Given the description of an element on the screen output the (x, y) to click on. 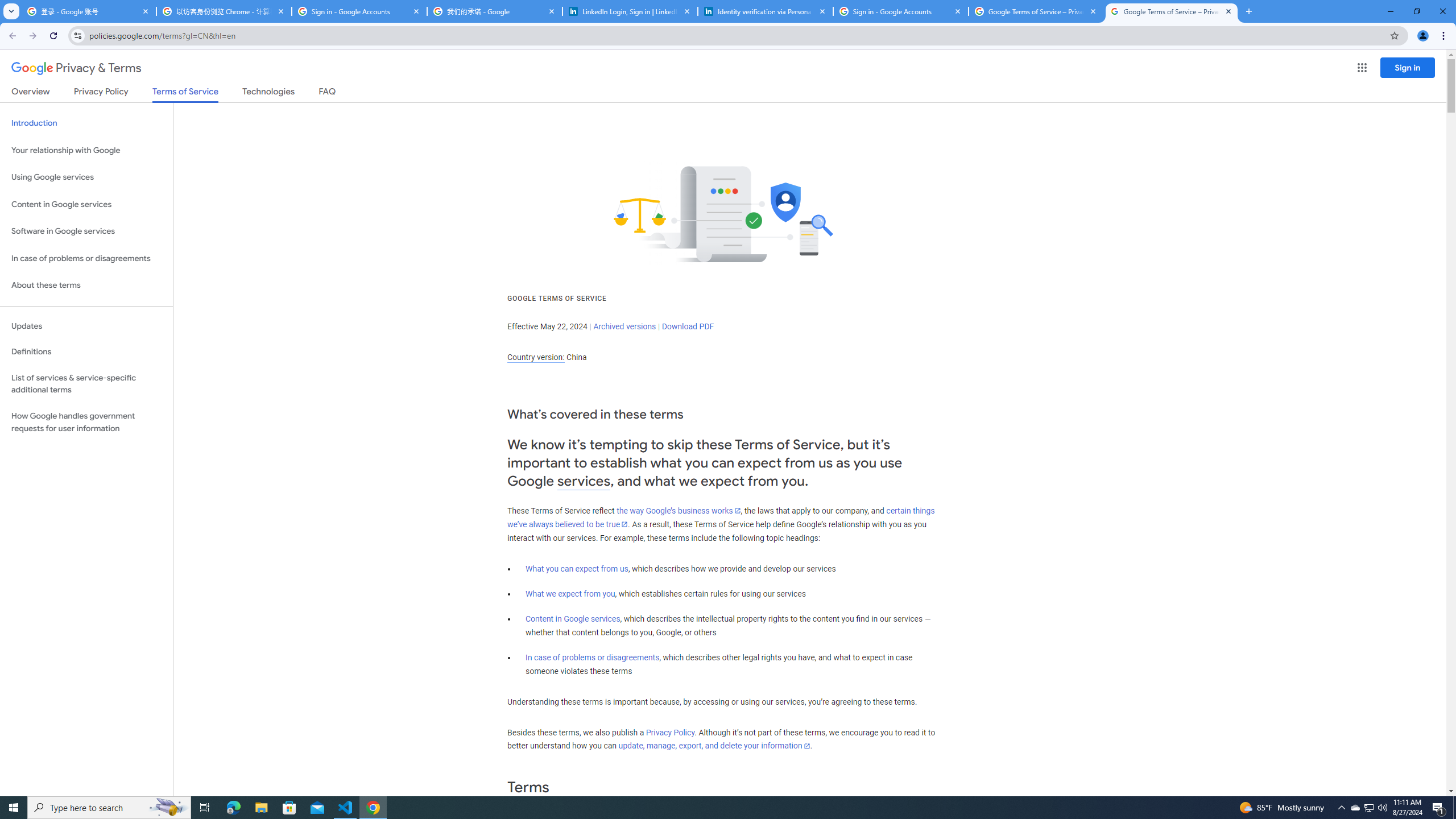
About these terms (86, 284)
Sign in - Google Accounts (359, 11)
LinkedIn Login, Sign in | LinkedIn (630, 11)
Content in Google services (572, 618)
